Given the description of an element on the screen output the (x, y) to click on. 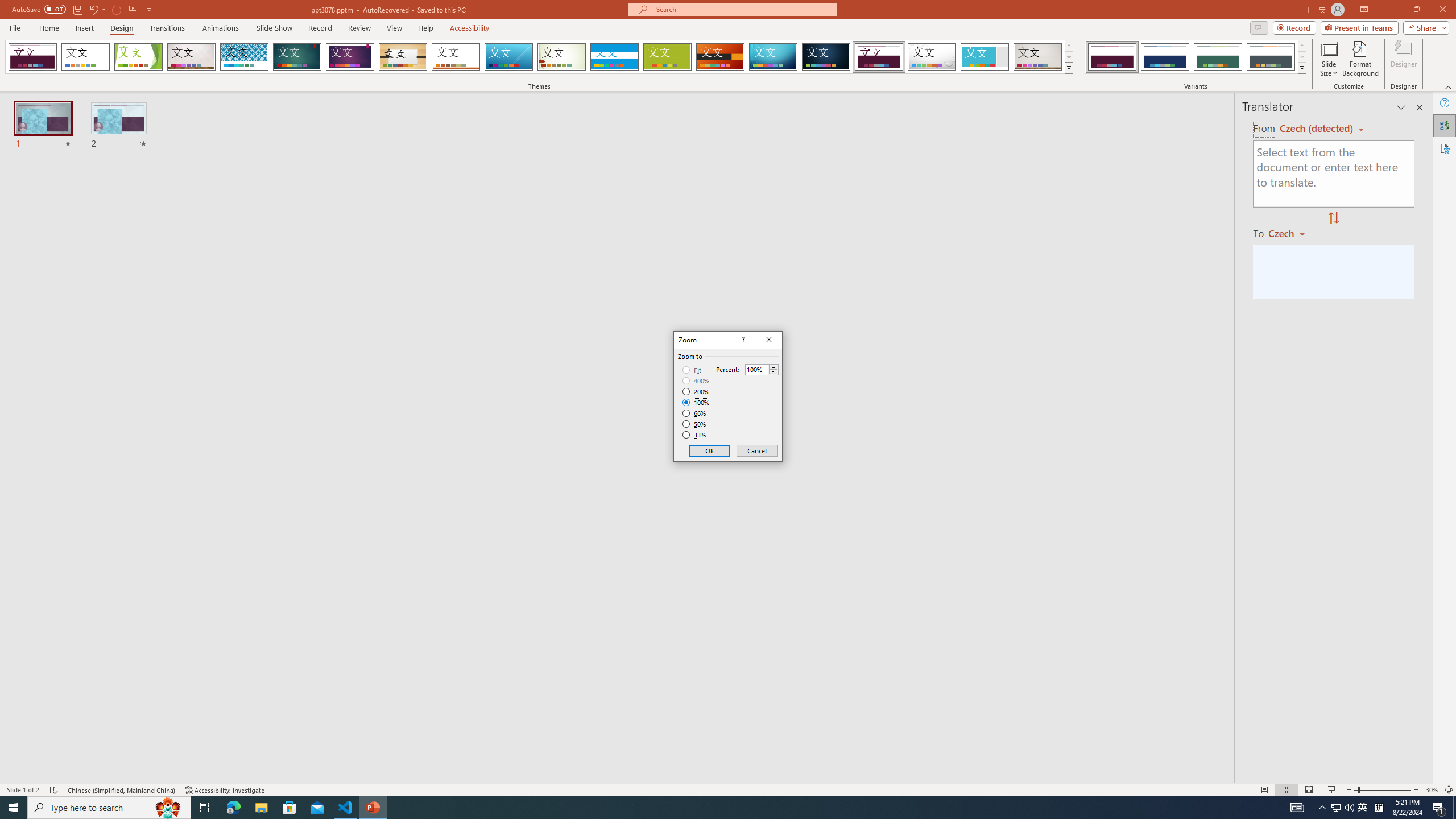
400% (696, 380)
100% (696, 402)
Slide Size (1362, 807)
Slide Show (1328, 58)
33% (1331, 790)
Zoom to Fit  (694, 434)
Row up (1449, 790)
Fit (1301, 45)
Zoom (691, 370)
Dividend Variant 1 (1382, 790)
Running applications (1112, 56)
More (707, 807)
